Given the description of an element on the screen output the (x, y) to click on. 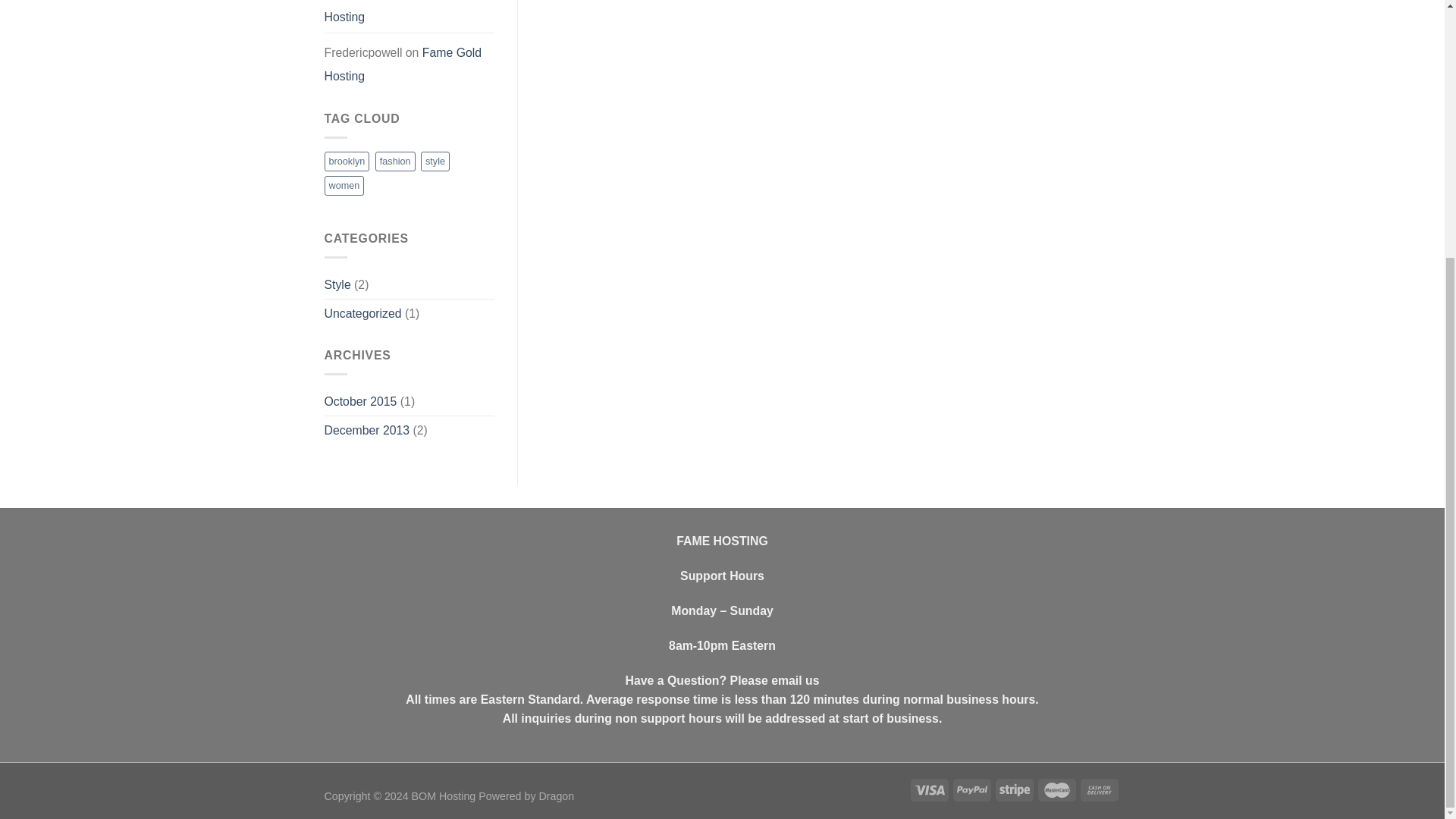
fashion (394, 161)
women (344, 185)
Fame Gold Hosting (402, 13)
Uncategorized (362, 313)
Style (337, 284)
October 2015 (360, 401)
Fame Gold Hosting (402, 63)
December 2013 (367, 430)
Dragon (555, 796)
brooklyn (346, 161)
